Given the description of an element on the screen output the (x, y) to click on. 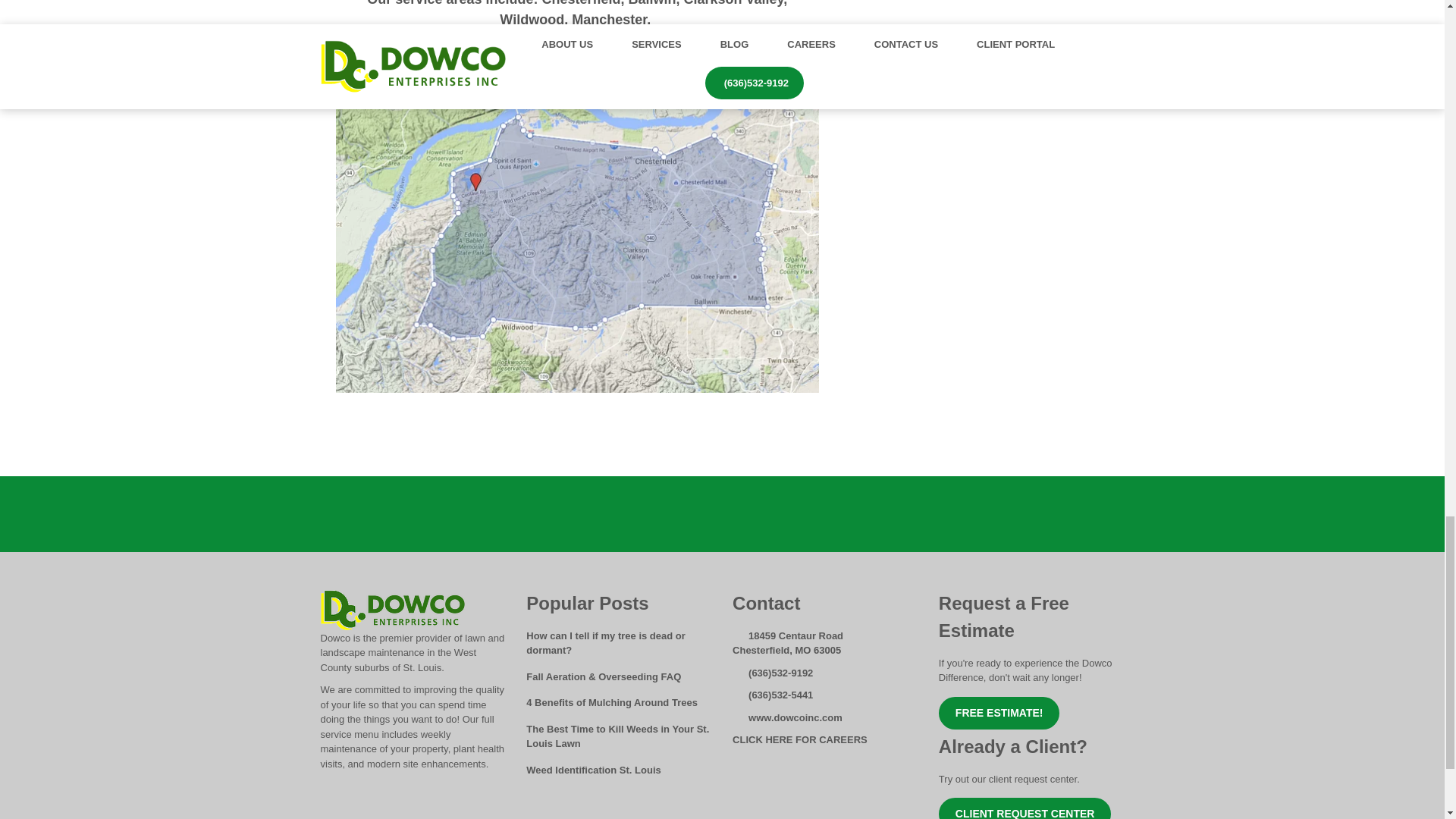
FREE ESTIMATE! (999, 712)
Client Request Center (1025, 808)
logo (392, 609)
